Given the description of an element on the screen output the (x, y) to click on. 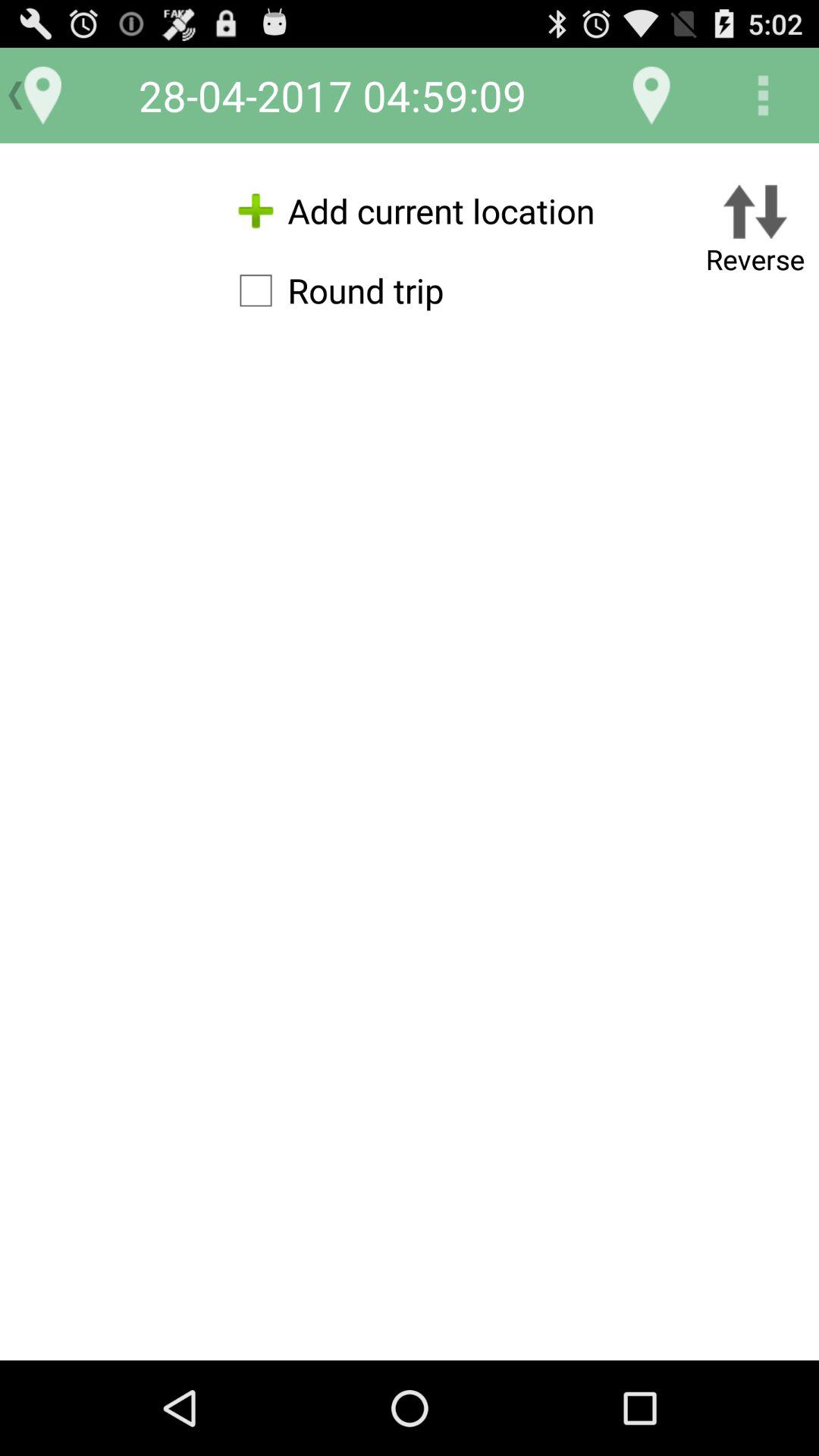
select the icon to the right of add current location button (755, 232)
